Given the description of an element on the screen output the (x, y) to click on. 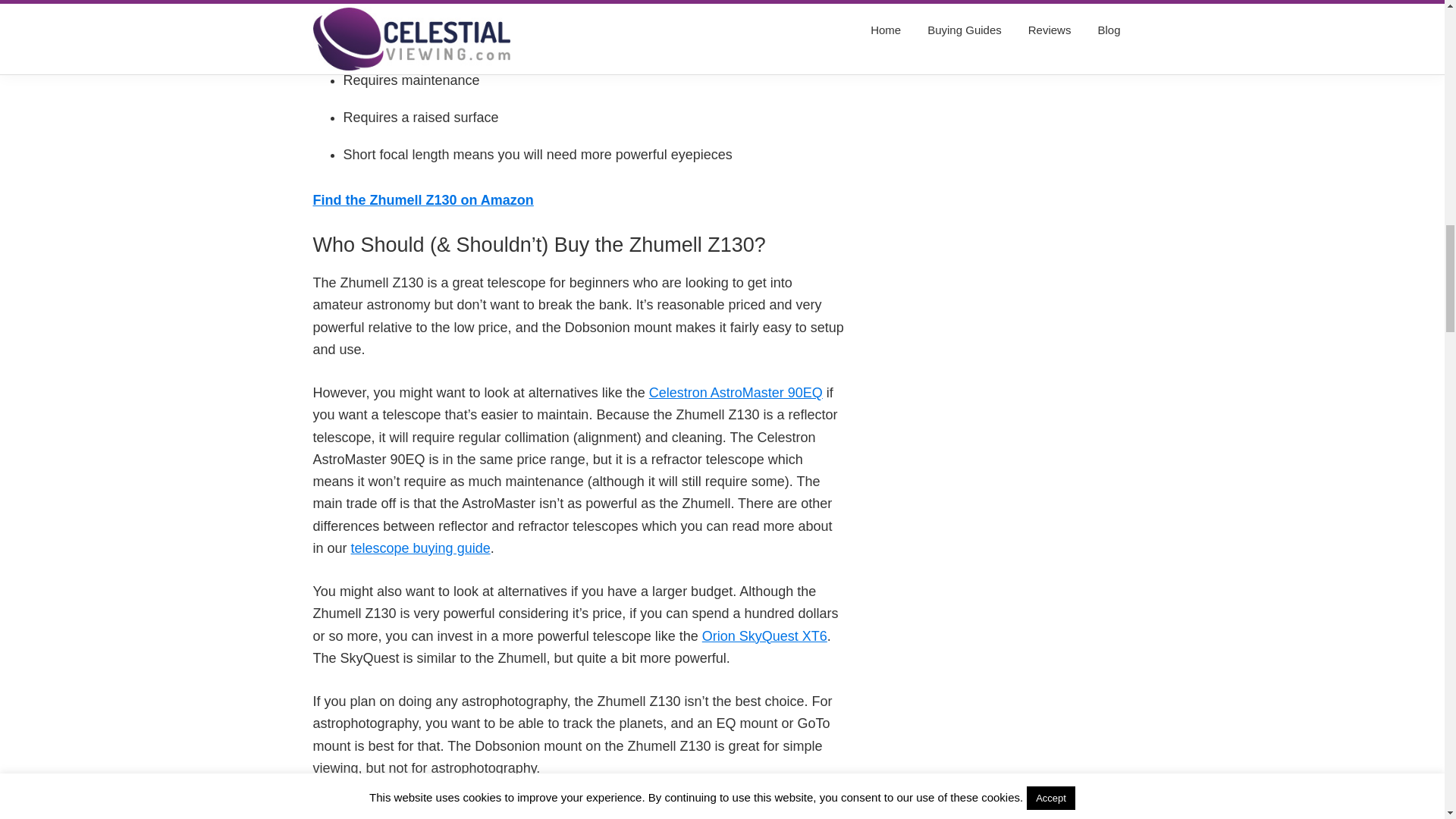
Orion SkyQuest XT6 (764, 635)
Find the Zhumell Z130 on Amazon (422, 200)
Celestron AstroMaster 90EQ (735, 392)
telescope buying guide (420, 548)
